Given the description of an element on the screen output the (x, y) to click on. 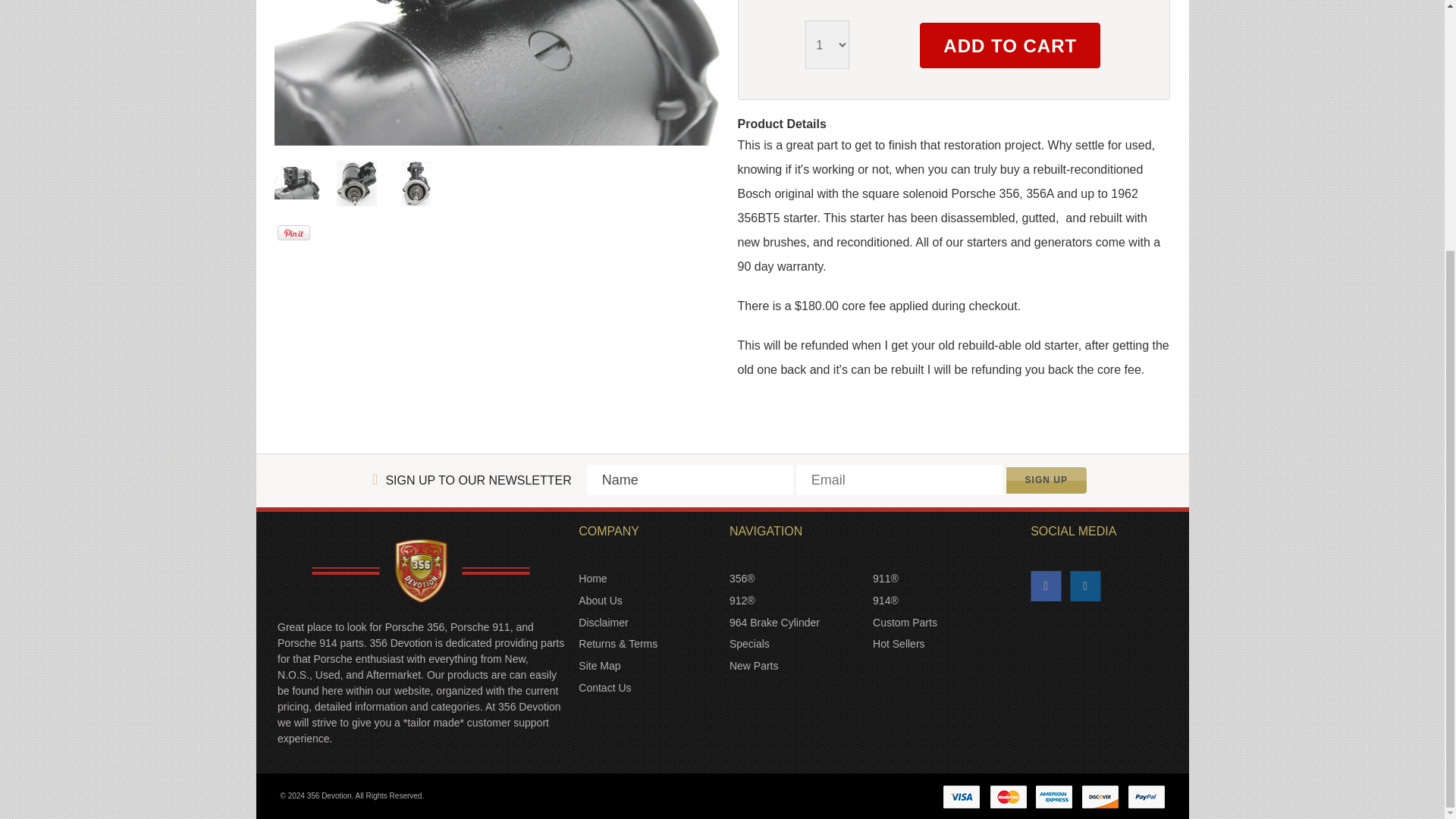
Optics Redifined (421, 570)
Image 1 (498, 72)
Name (689, 480)
Image 1 (297, 179)
